Given the description of an element on the screen output the (x, y) to click on. 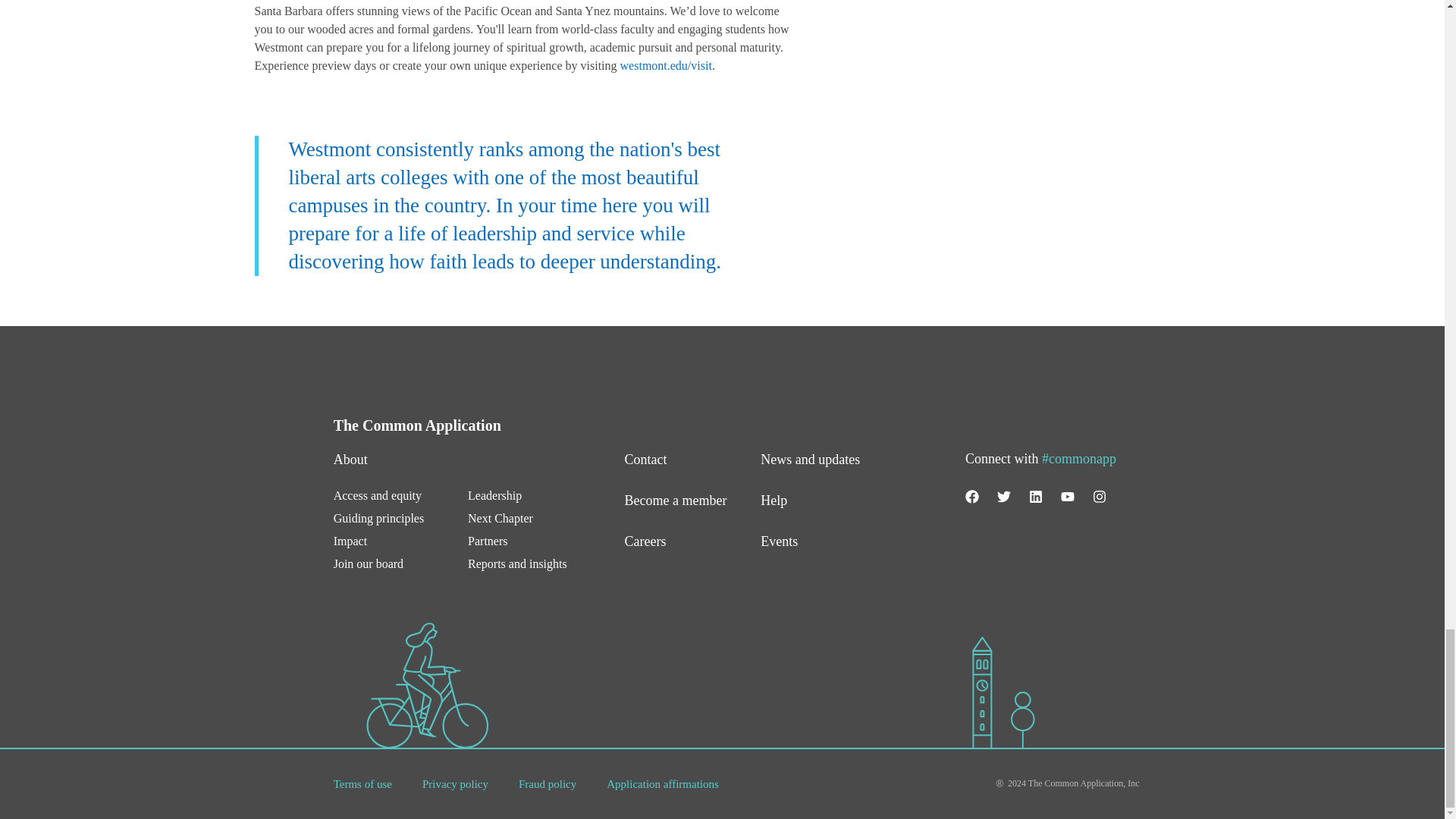
Twitter icon (1003, 496)
Facebook icon (971, 496)
Instagram icon (1099, 496)
LinkedIn icon (1035, 496)
Youtube icon (1067, 496)
